Given the description of an element on the screen output the (x, y) to click on. 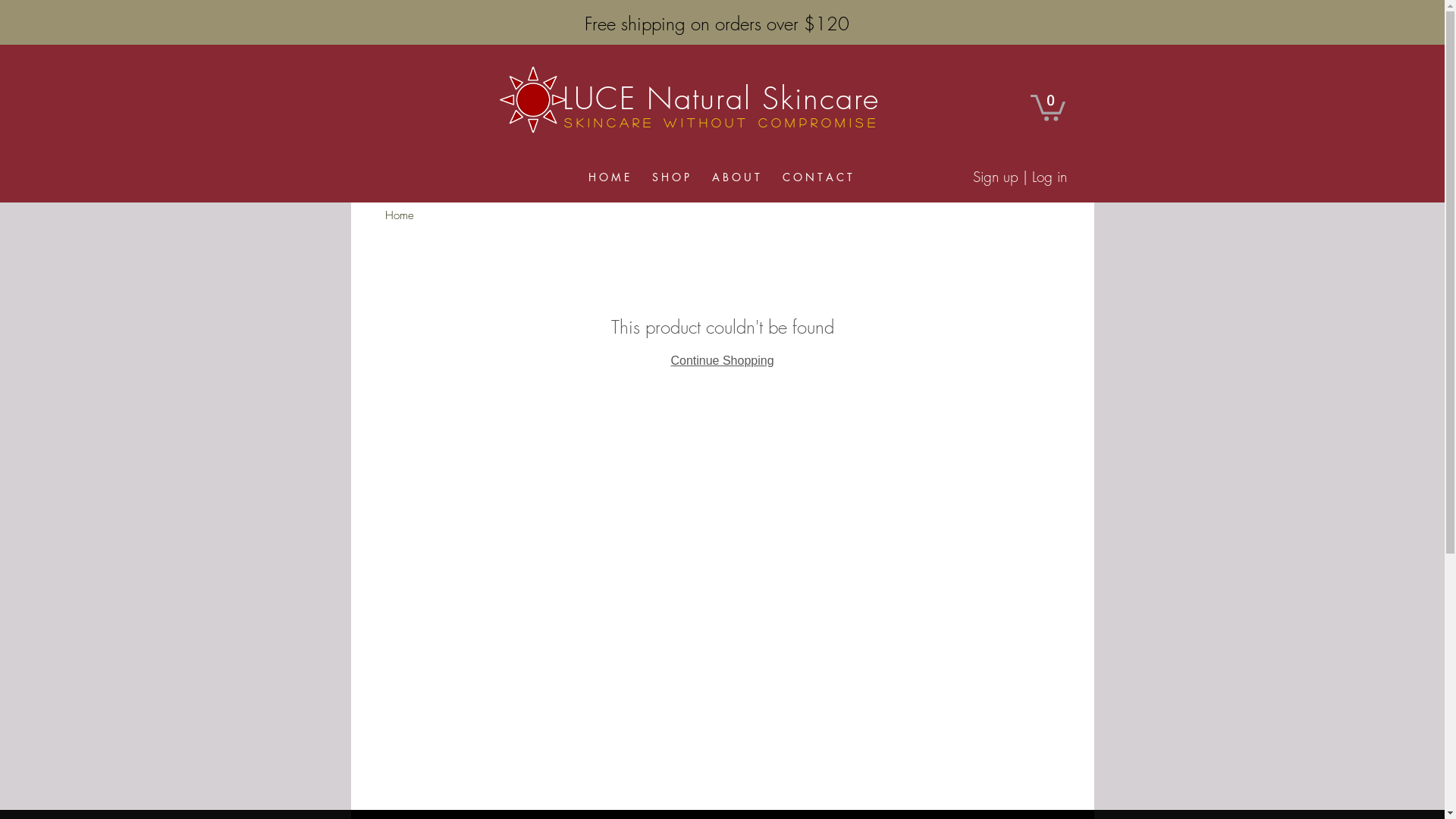
Sign up | Log in Element type: text (1018, 176)
Site Search Element type: hover (1002, 25)
S H O P Element type: text (669, 176)
Home Element type: text (399, 214)
LUCE Natural Skincare Element type: text (720, 98)
Continue Shopping Element type: text (721, 360)
C O N T A C T Element type: text (816, 176)
0 Element type: text (1046, 106)
H O M E Element type: text (608, 176)
A B O U T Element type: text (735, 176)
